Given the description of an element on the screen output the (x, y) to click on. 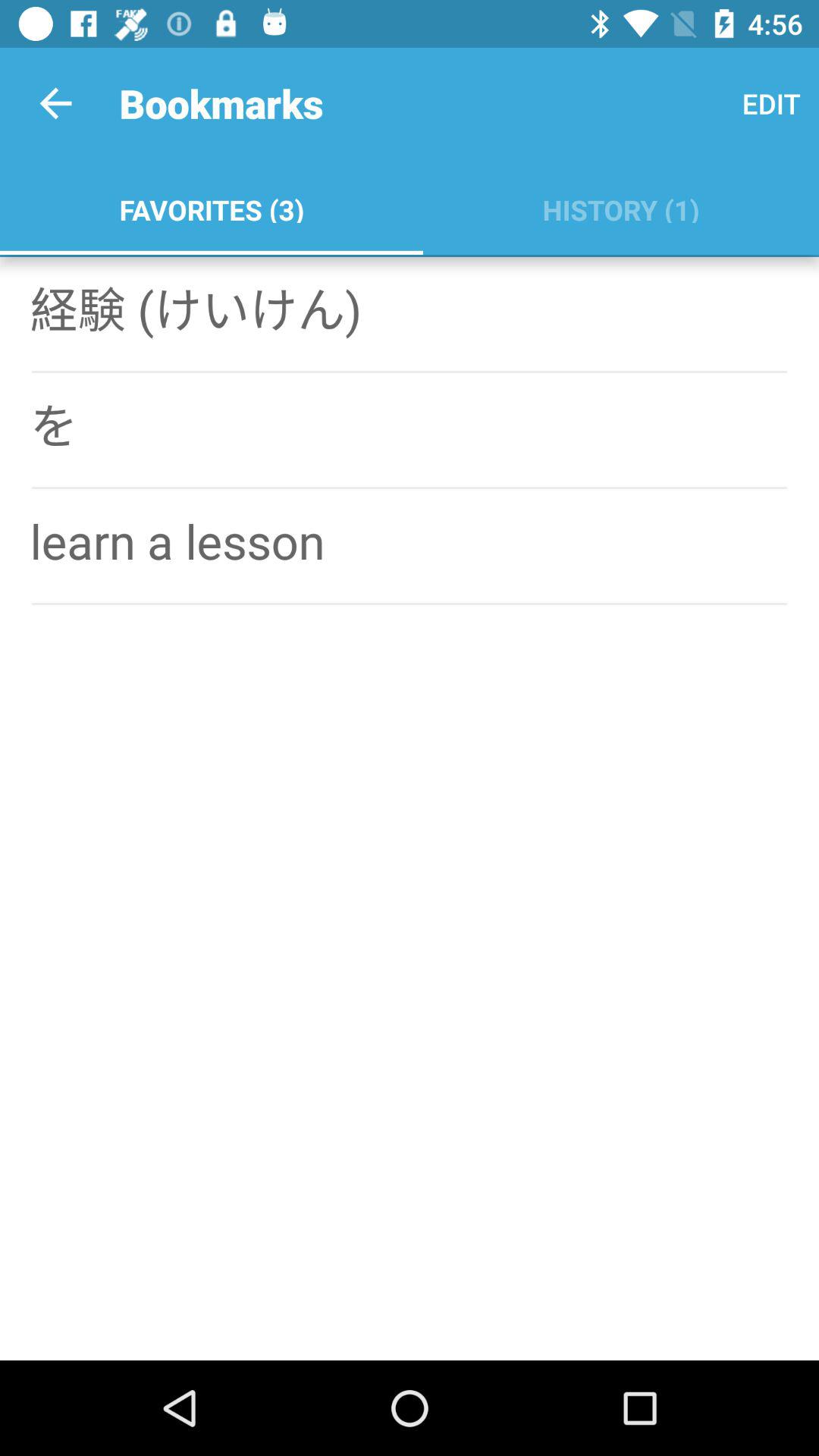
click app to the left of bookmarks icon (55, 103)
